Given the description of an element on the screen output the (x, y) to click on. 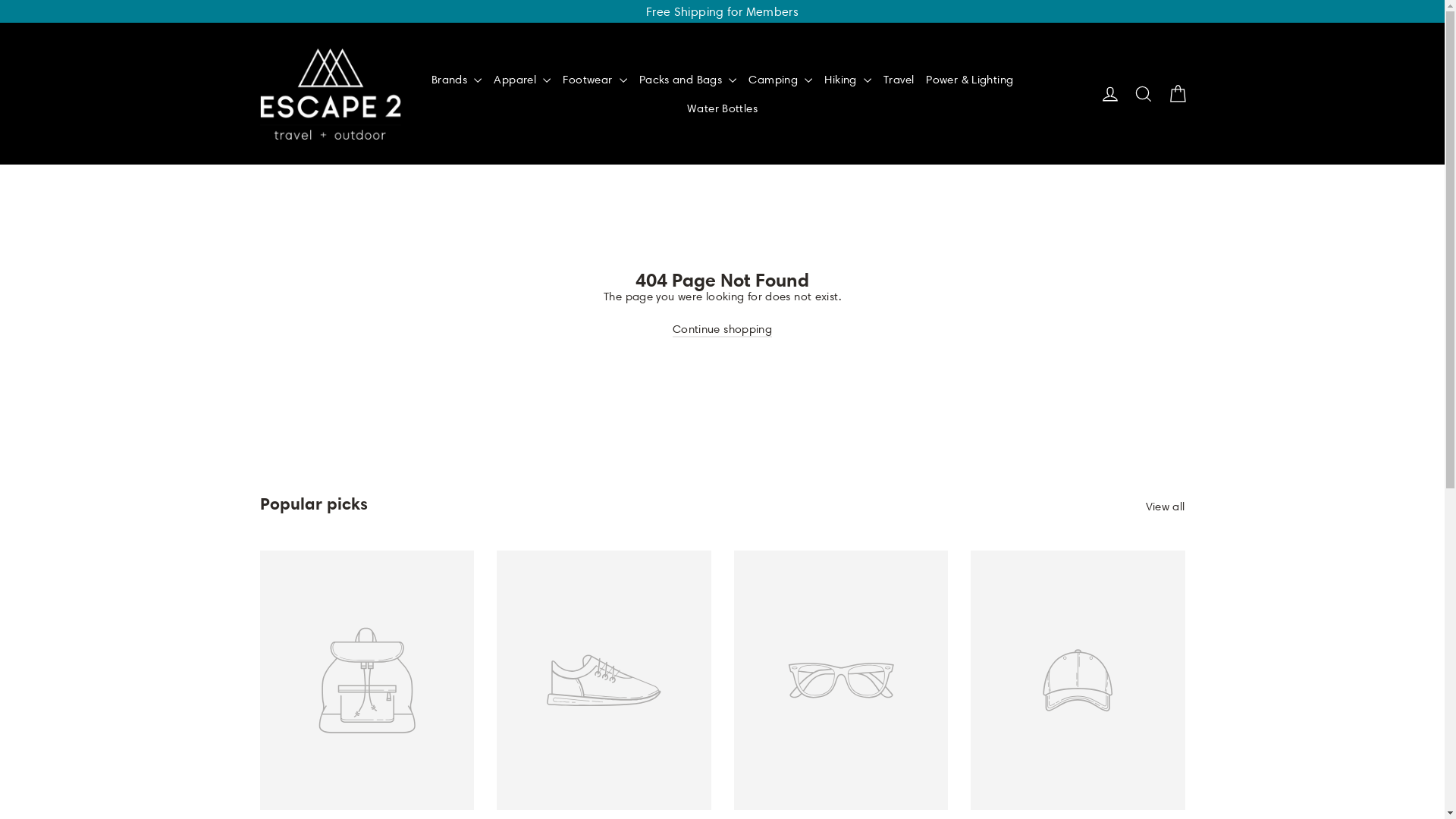
Camping Element type: text (780, 79)
Footwear Element type: text (594, 79)
View all Element type: text (1164, 504)
Free Shipping for Members Element type: text (722, 11)
Log in Element type: text (1109, 93)
Search Element type: text (1143, 93)
Travel Element type: text (898, 79)
Cart Element type: text (1176, 93)
Hiking Element type: text (847, 79)
Packs and Bags Element type: text (688, 79)
Continue shopping Element type: text (721, 329)
Water Bottles Element type: text (721, 108)
Power & Lighting Element type: text (969, 79)
Skip to content Element type: text (0, 0)
Apparel Element type: text (521, 79)
Brands Element type: text (456, 79)
